Given the description of an element on the screen output the (x, y) to click on. 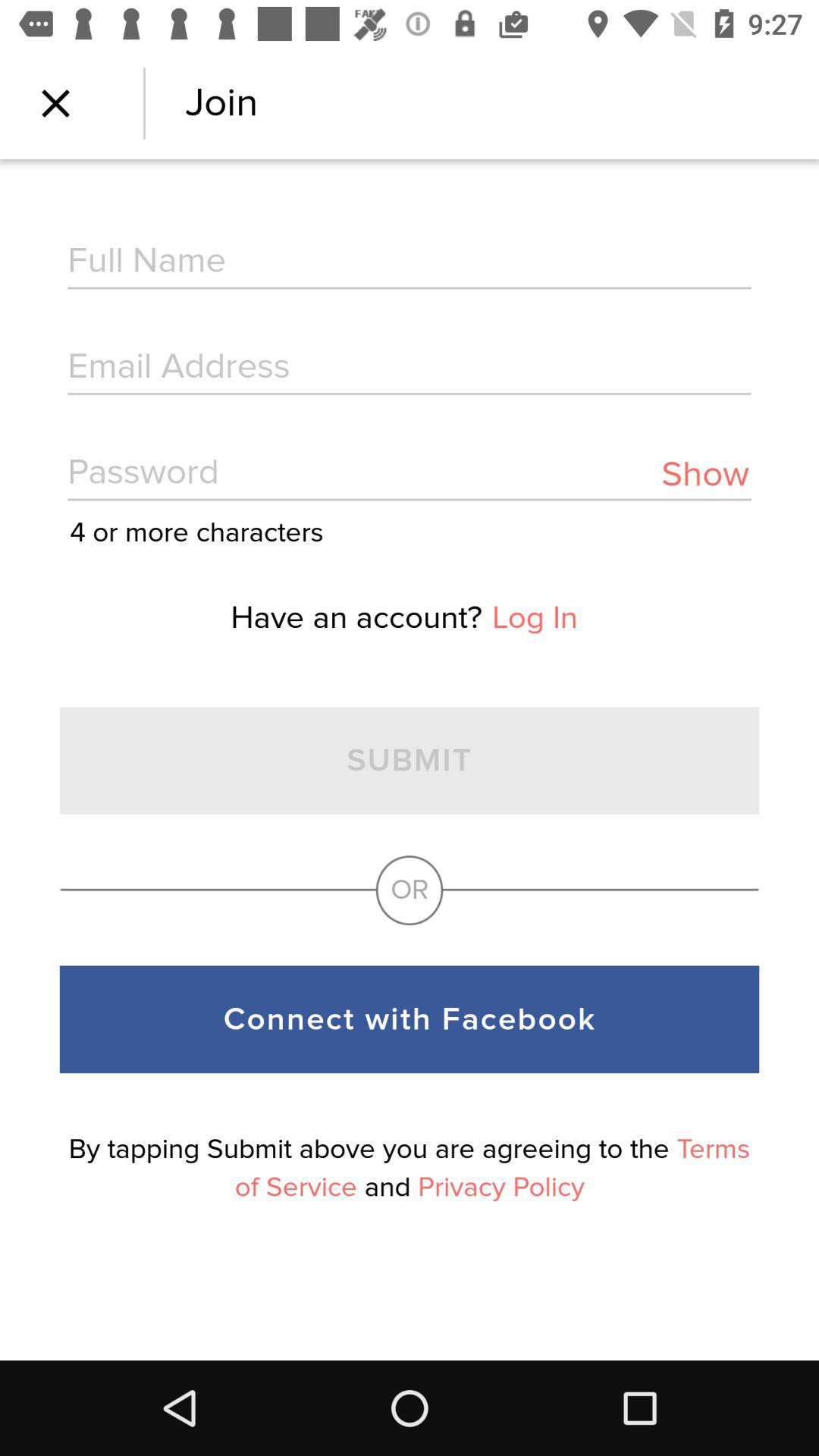
turn off the item above or icon (535, 618)
